Given the description of an element on the screen output the (x, y) to click on. 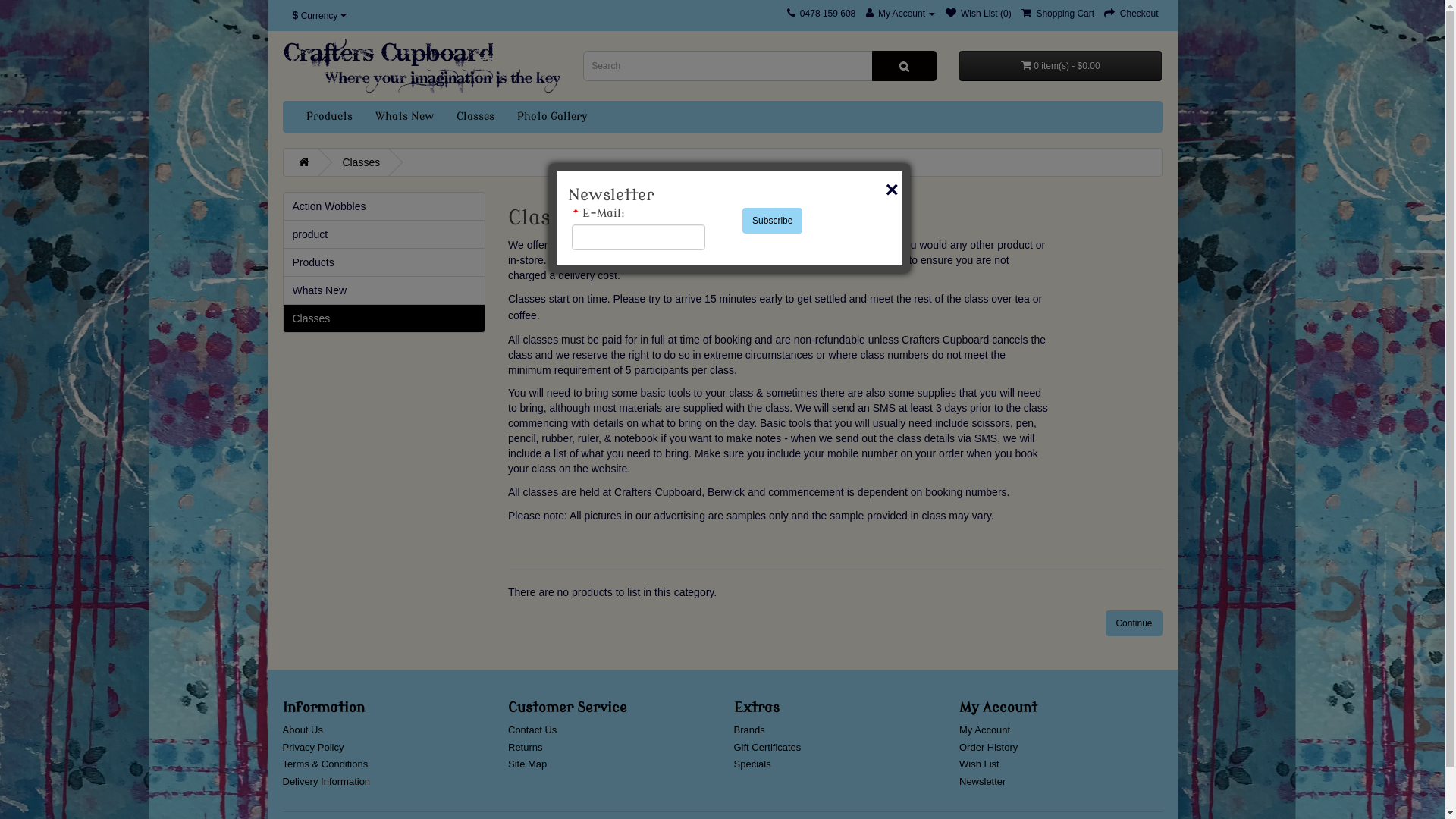
Continue Element type: text (1133, 623)
Specials Element type: text (752, 763)
Brands Element type: text (749, 729)
Contact Us Element type: text (532, 729)
Delivery Information Element type: text (326, 781)
Classes Element type: text (360, 162)
Crafters Cupboard Pty Ltd Element type: hover (421, 65)
Returns Element type: text (525, 747)
Products Element type: text (328, 116)
Subscribe Element type: text (772, 220)
My Account Element type: text (900, 13)
Products Element type: text (383, 261)
Photo Gallery Element type: text (551, 116)
Order History Element type: text (988, 747)
Gift Certificates Element type: text (767, 747)
Classes Element type: text (383, 318)
Wish List Element type: text (979, 763)
0 item(s) - $0.00 Element type: text (1060, 65)
Shopping Cart Element type: text (1057, 13)
My Account Element type: text (984, 729)
Wish List (0) Element type: text (978, 13)
product Element type: text (383, 233)
Checkout Element type: text (1130, 13)
Whats New Element type: text (404, 116)
Site Map Element type: text (527, 763)
Whats New Element type: text (383, 290)
Classes Element type: text (474, 116)
Terms & Conditions Element type: text (324, 763)
About Us Element type: text (302, 729)
Action Wobbles Element type: text (383, 205)
$ Currency  Element type: text (319, 15)
Privacy Policy Element type: text (312, 747)
Newsletter Element type: text (982, 781)
